Given the description of an element on the screen output the (x, y) to click on. 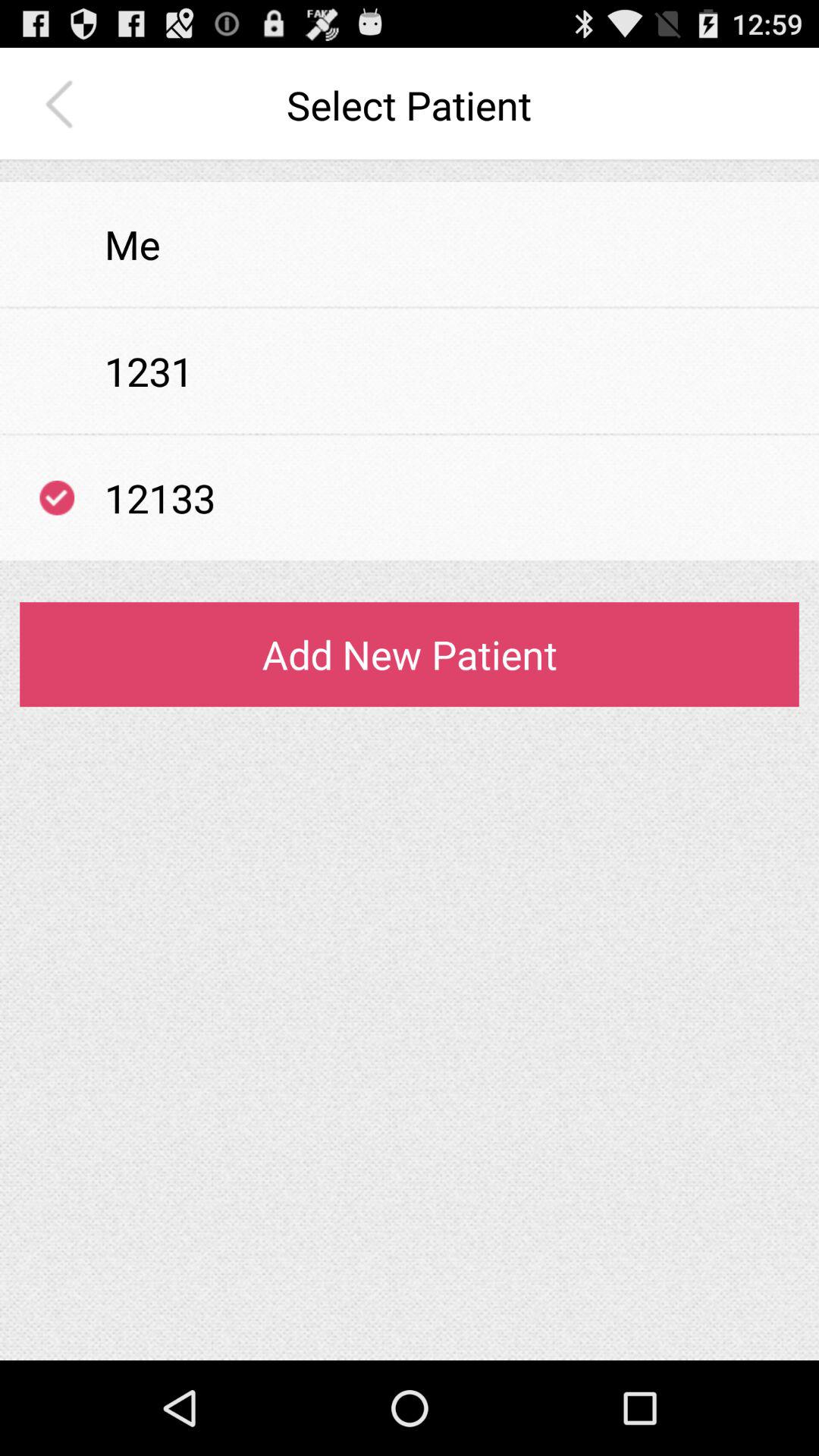
turn off the 12133 item (159, 497)
